Given the description of an element on the screen output the (x, y) to click on. 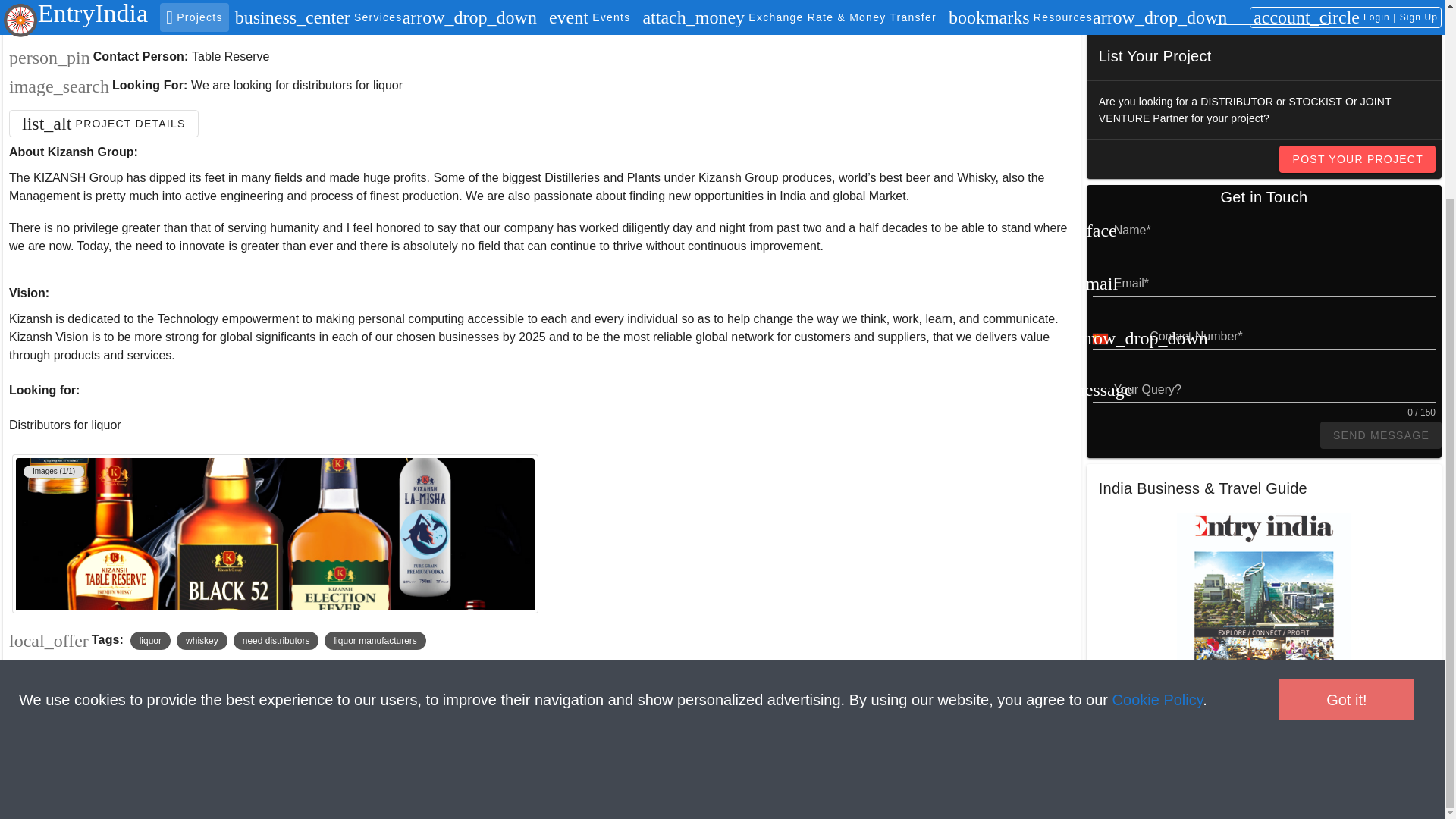
EXPLORE (1400, 12)
EntryIndia Facebook (28, 800)
need distributors (275, 640)
Got it! (1346, 447)
Project Details (103, 123)
liquor manufacturers (374, 640)
whiskey (201, 640)
SEND MESSAGE (1380, 434)
Cookie Policy (1158, 447)
EntryIndia Linkedin (61, 800)
POST YOUR PROJECT (1357, 158)
EntryIndia Twitter (95, 800)
Cookie Policy (1158, 447)
liquor (150, 640)
